Given the description of an element on the screen output the (x, y) to click on. 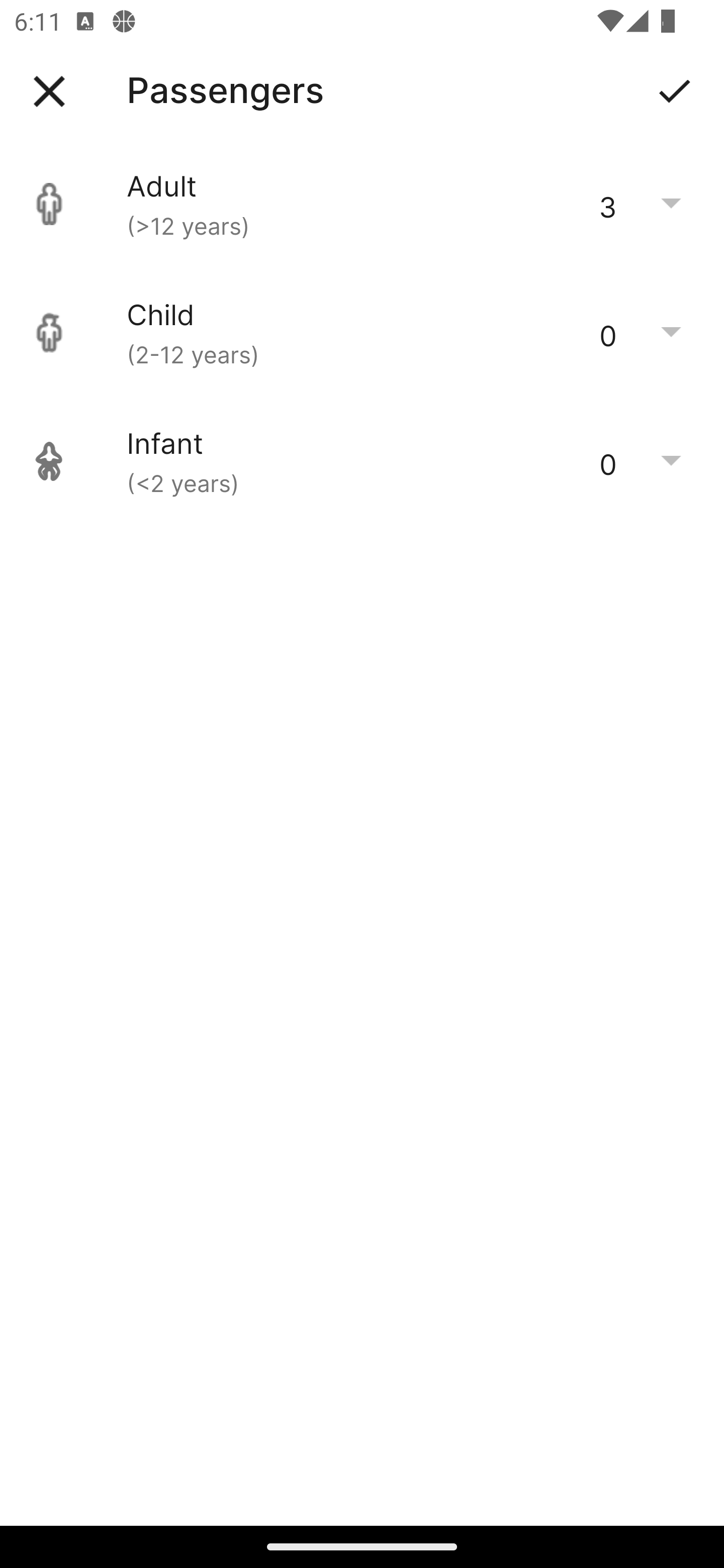
Adult (>12 years) 3 (362, 204)
Child (2-12 years) 0 (362, 332)
Infant (<2 years) 0 (362, 461)
